Given the description of an element on the screen output the (x, y) to click on. 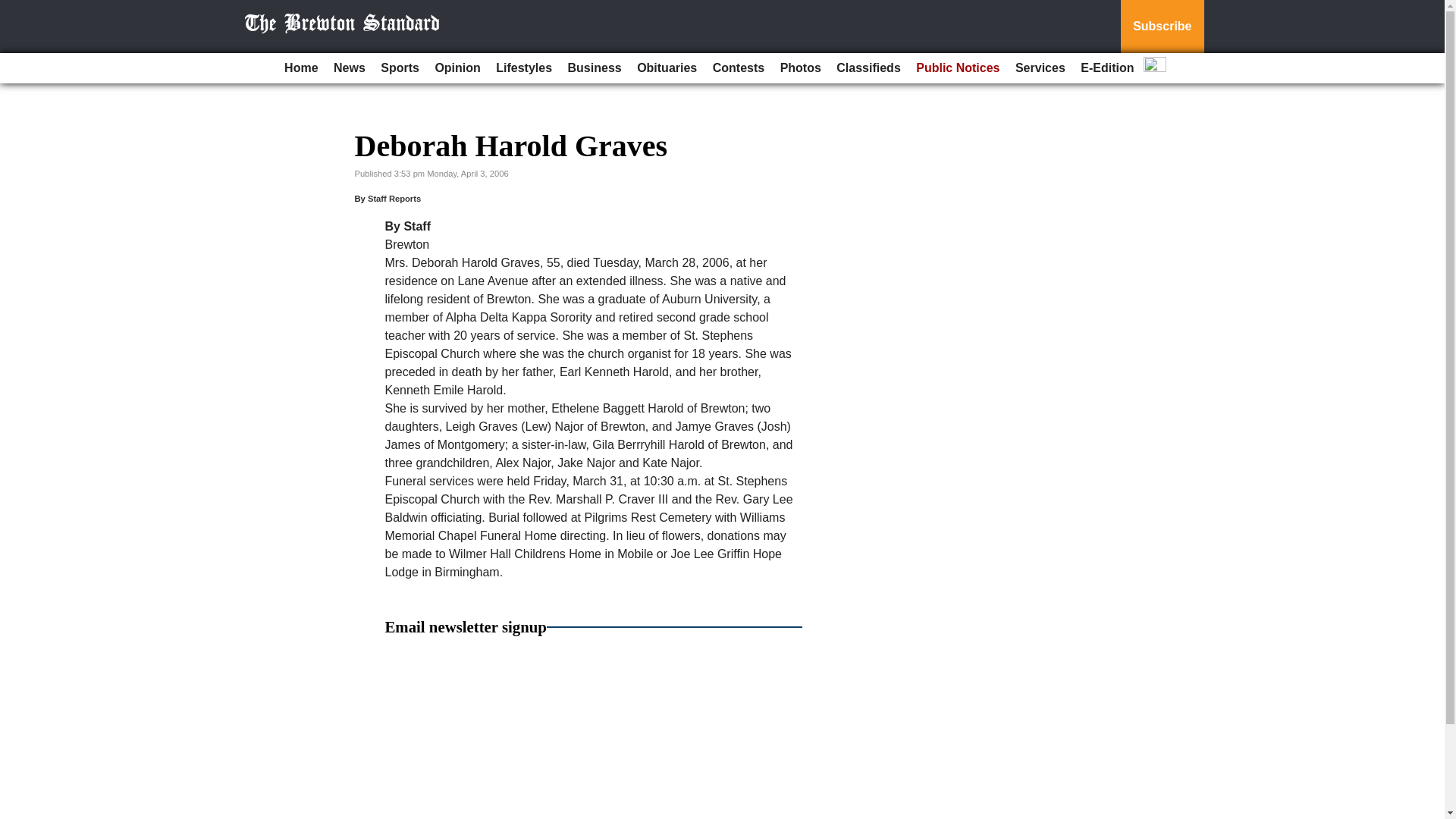
Opinion (457, 68)
Contests (738, 68)
Staff Reports (394, 198)
Subscribe (1162, 26)
Sports (399, 68)
Classifieds (867, 68)
Go (13, 9)
Lifestyles (523, 68)
Business (594, 68)
Public Notices (958, 68)
